Given the description of an element on the screen output the (x, y) to click on. 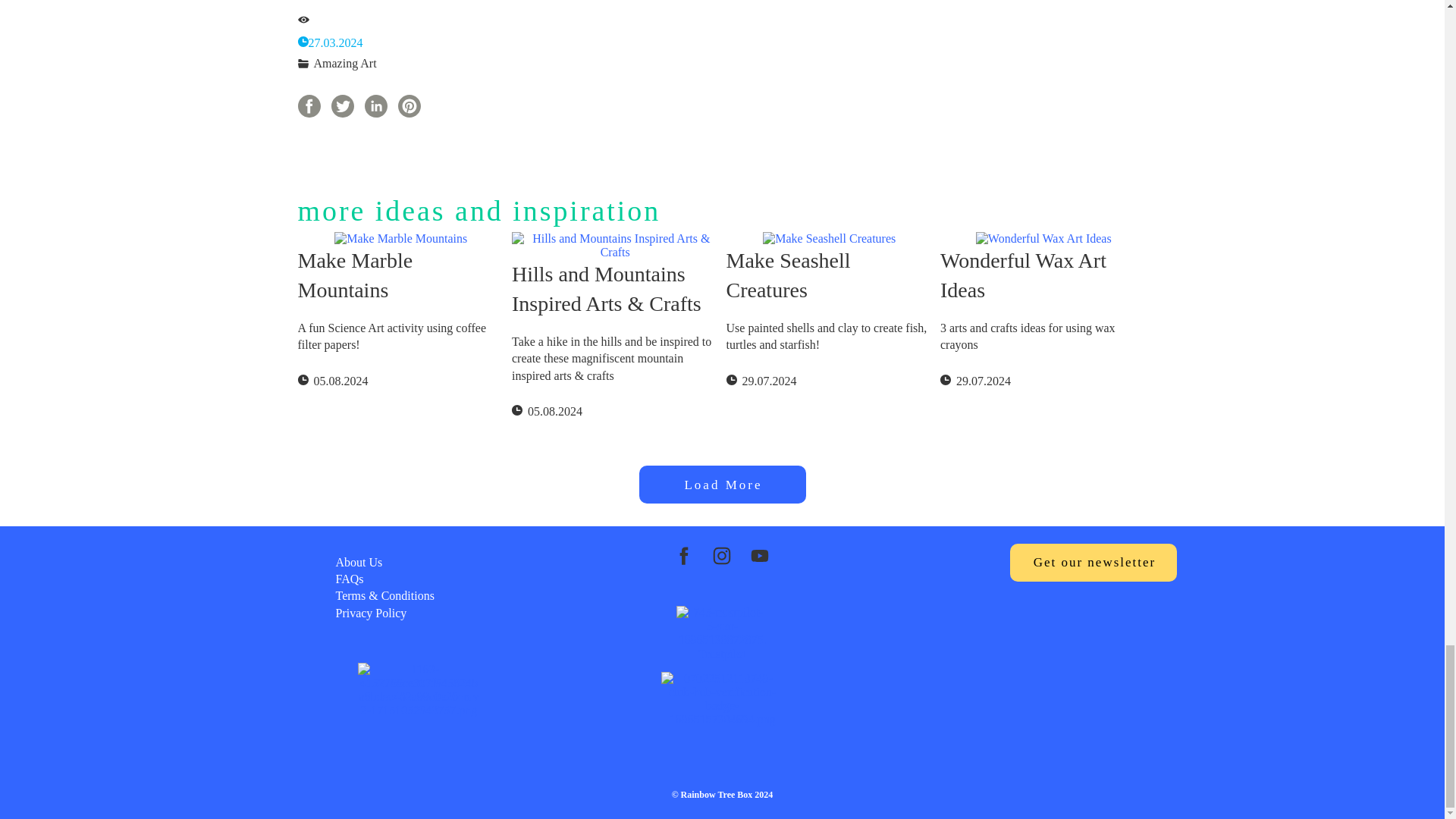
About Us (357, 562)
Privacy Policy (370, 612)
Make Seashell Creatures (829, 273)
Wonderful Wax Art Ideas (1043, 273)
FAQs (348, 578)
Load More (722, 484)
Make Marble Mountains (400, 273)
